Given the description of an element on the screen output the (x, y) to click on. 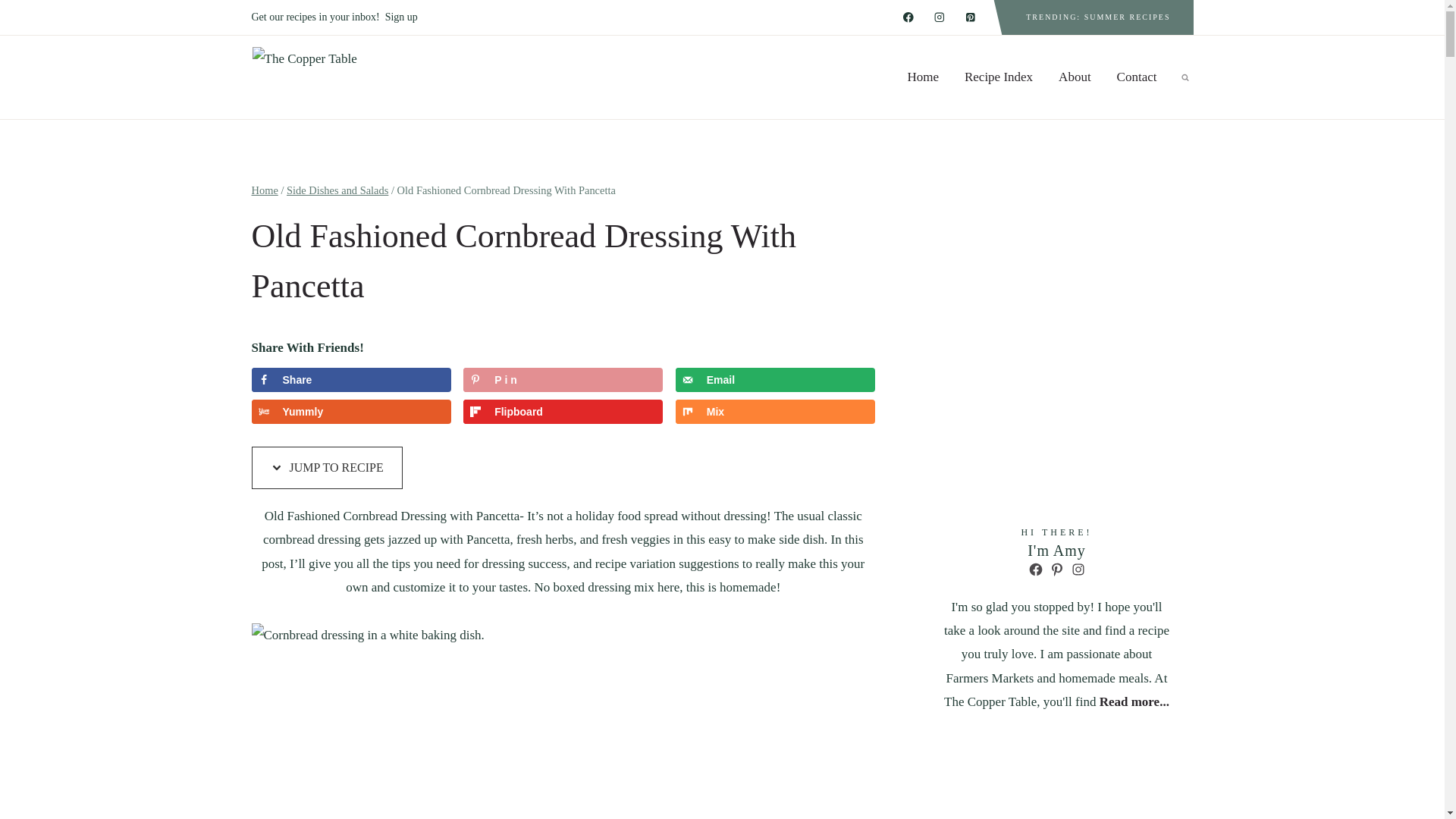
Share on Flipboard (562, 411)
Contact (1136, 77)
About (1074, 77)
Home (264, 190)
Yummly (351, 411)
Share on Facebook (351, 379)
Email (775, 379)
Share on Mix (775, 411)
Home (922, 77)
Flipboard (562, 411)
Sign up (401, 16)
JUMP TO RECIPE (327, 467)
Recipe Index (998, 77)
Share (351, 379)
Send over email (775, 379)
